Given the description of an element on the screen output the (x, y) to click on. 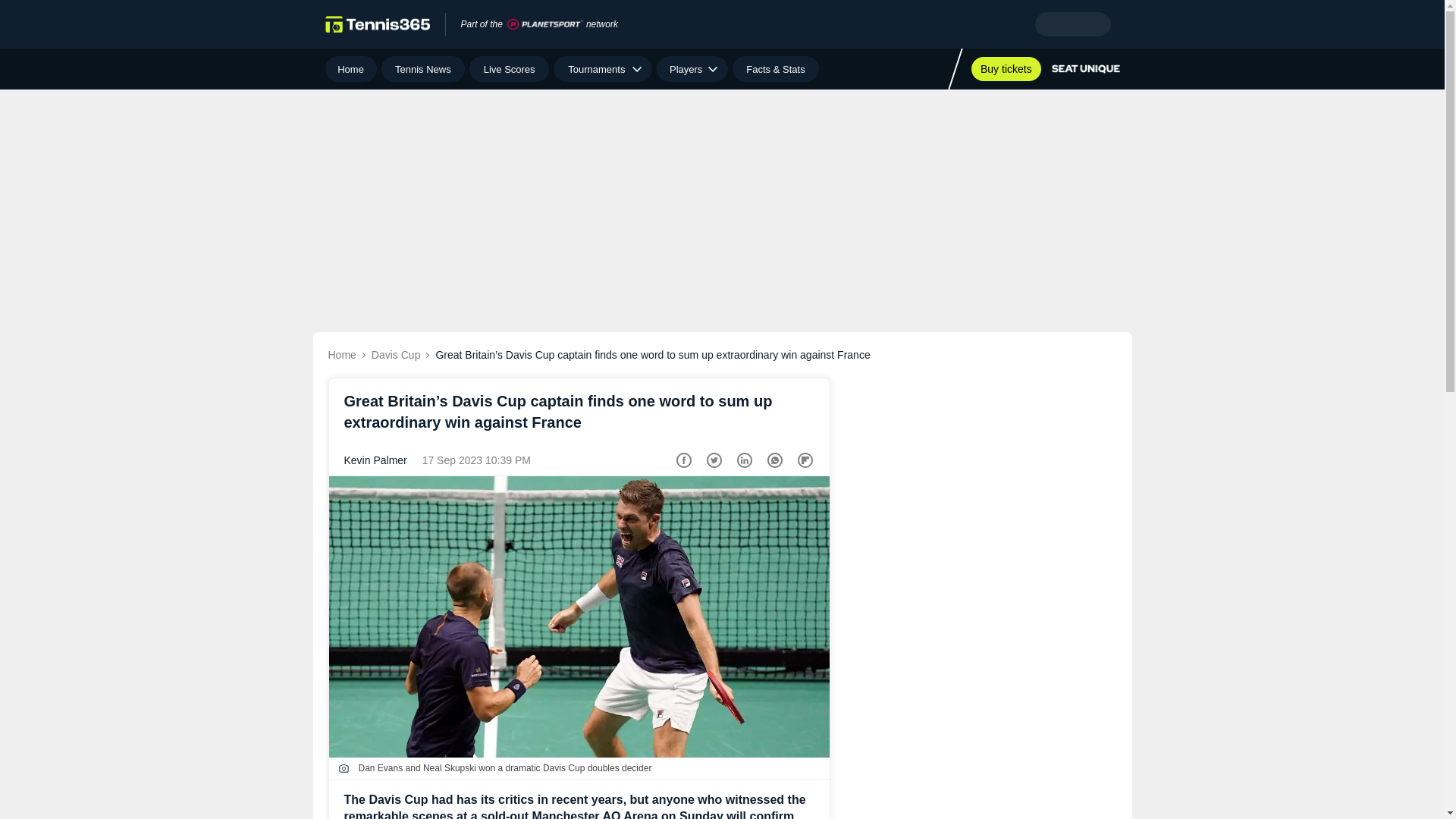
Buy tickets (1006, 68)
Players (692, 68)
Tournaments (601, 68)
Home (349, 68)
Live Scores (508, 68)
Tennis News (423, 68)
